Given the description of an element on the screen output the (x, y) to click on. 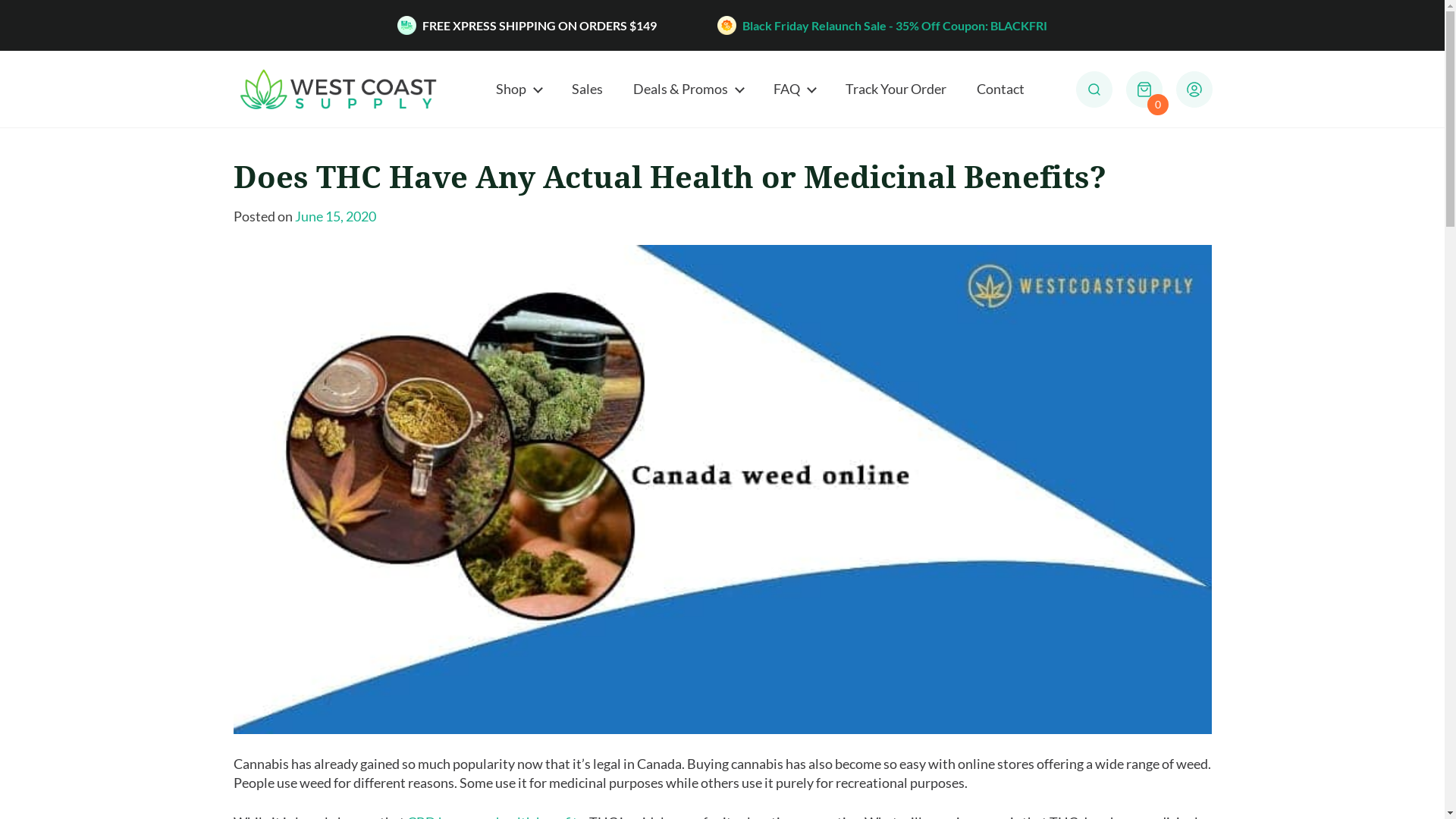
Sales Element type: text (586, 88)
June 15, 2020 Element type: text (334, 215)
Contact Element type: text (1000, 88)
Deals & Promos Element type: text (688, 88)
Shop Element type: text (518, 88)
Search Element type: text (1166, 81)
FAQ Element type: text (794, 88)
canada weed online 1 Element type: hover (722, 489)
Track Your Order Element type: text (895, 88)
